Given the description of an element on the screen output the (x, y) to click on. 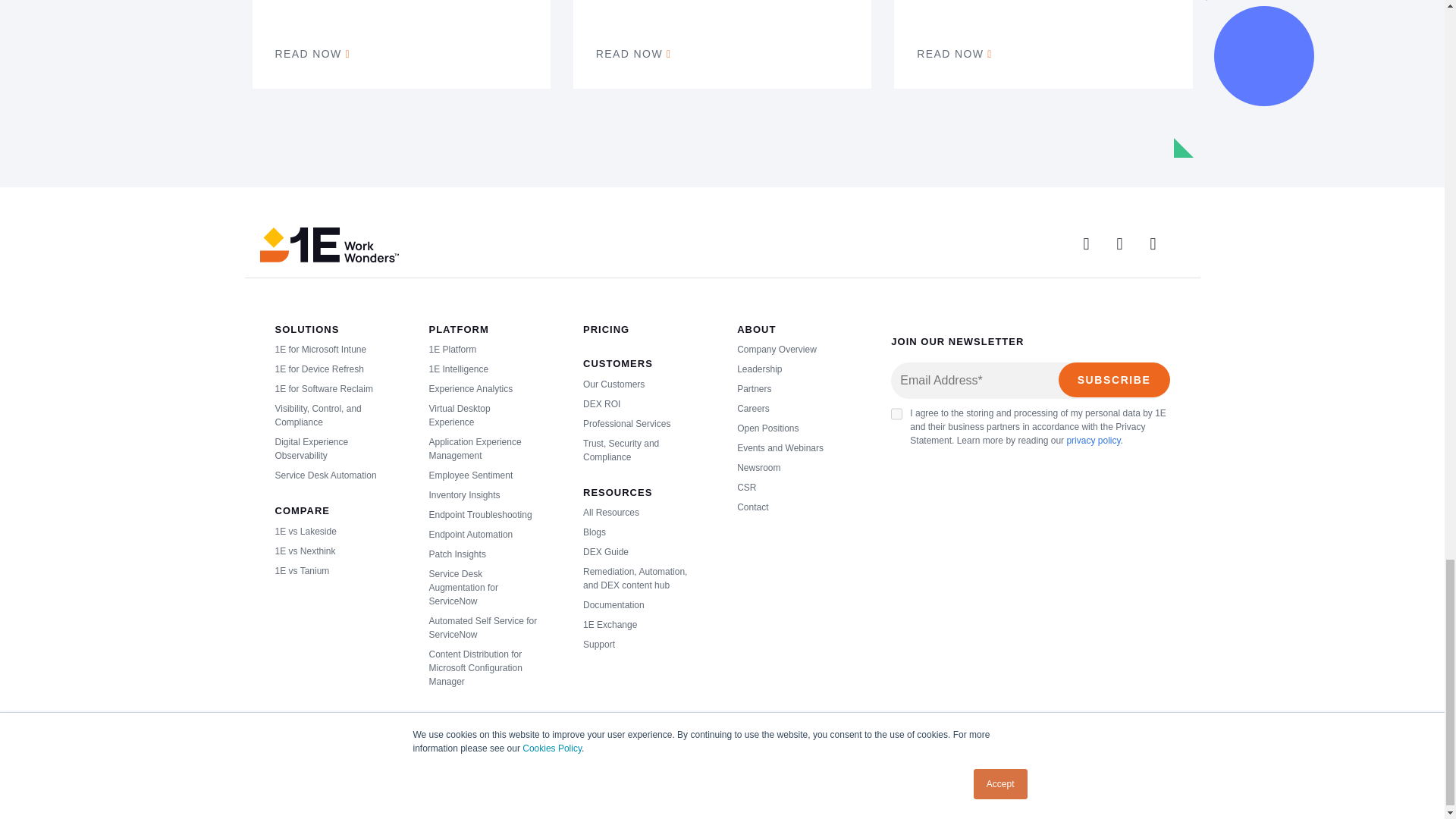
Subscribe (1114, 379)
1E Logo (328, 244)
